Given the description of an element on the screen output the (x, y) to click on. 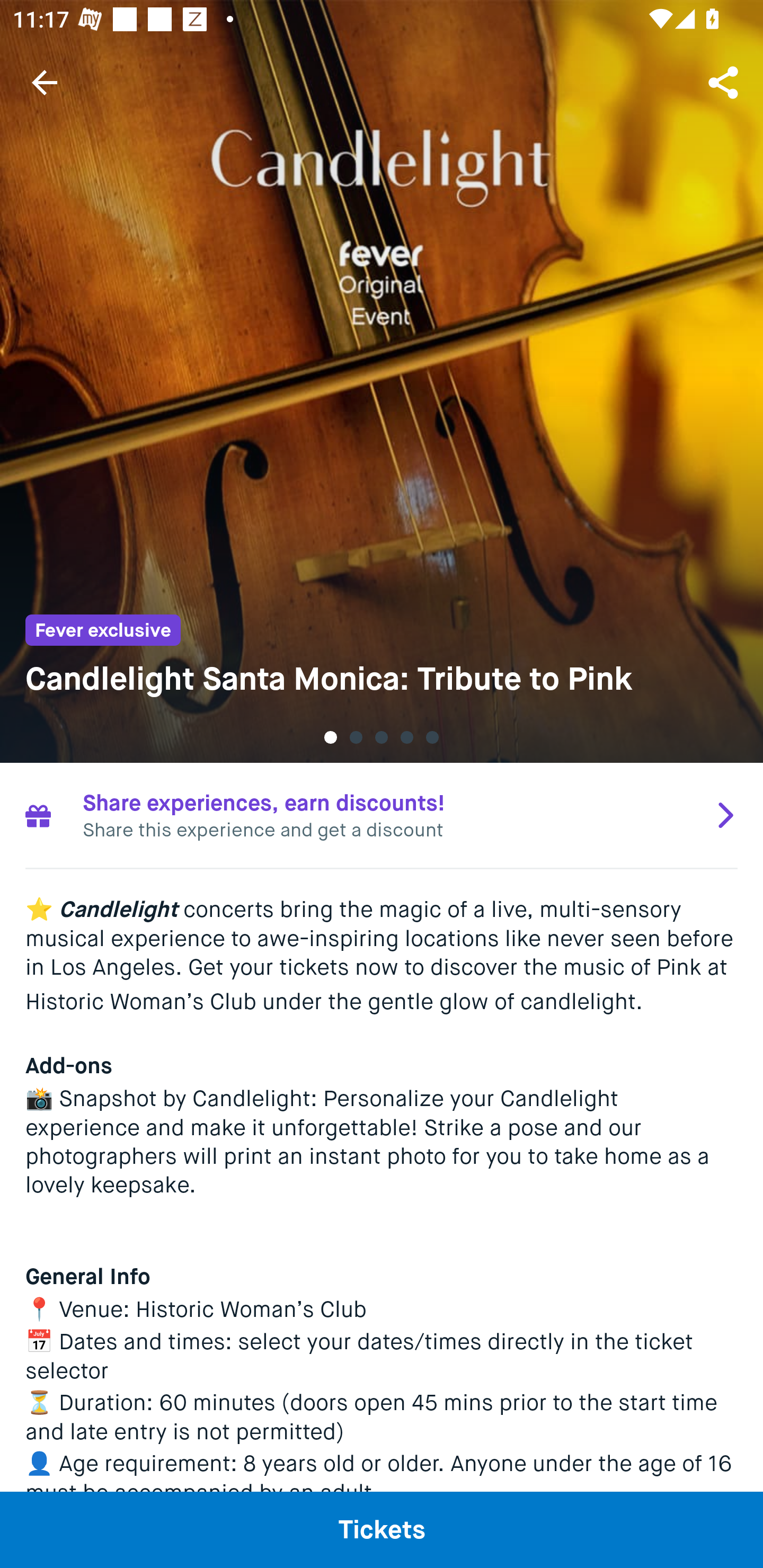
Navigate up (44, 82)
Share (724, 81)
Tickets (381, 1529)
